Given the description of an element on the screen output the (x, y) to click on. 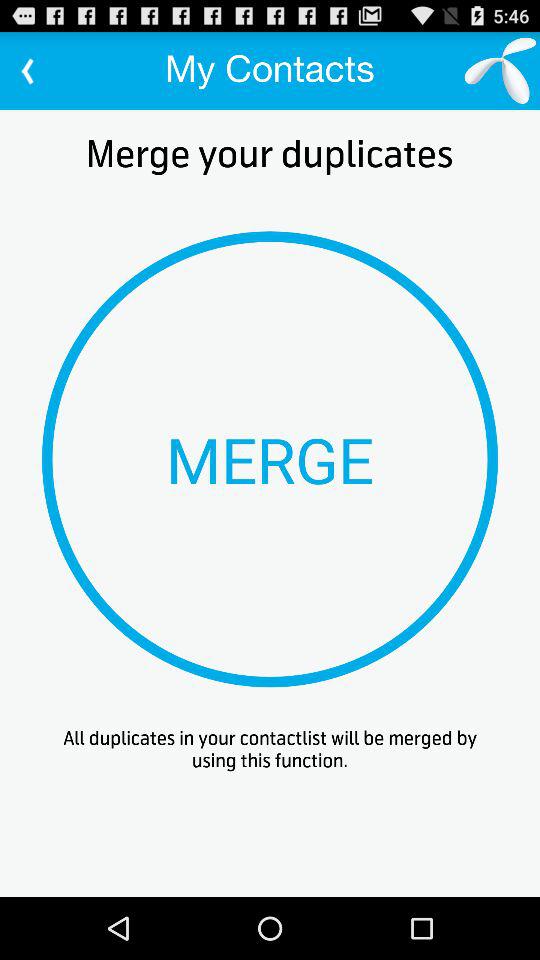
choose the icon below the merge your duplicates item (269, 459)
